Given the description of an element on the screen output the (x, y) to click on. 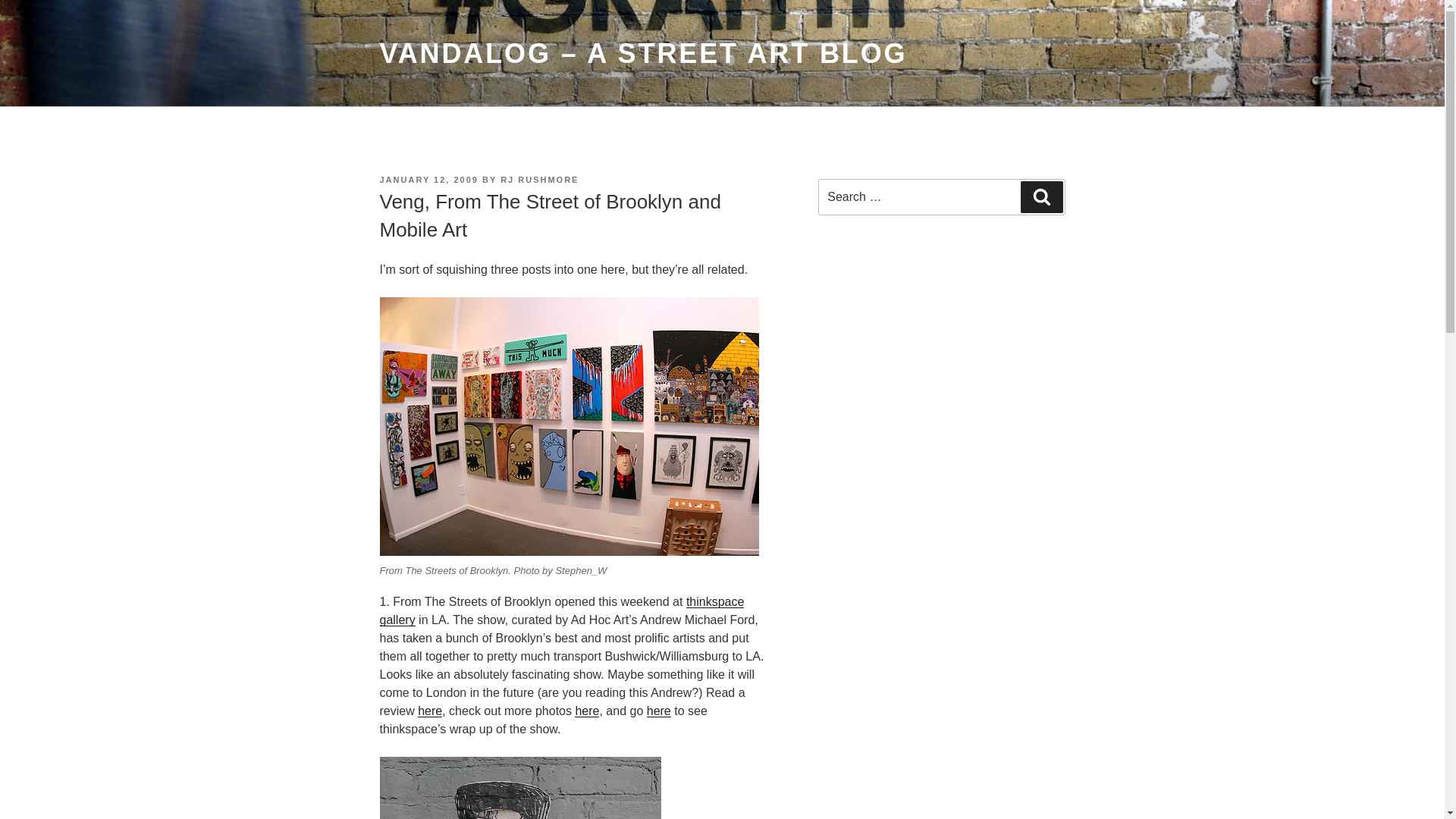
JANUARY 12, 2009 (427, 179)
Search (1041, 196)
thinkspace gallery (561, 610)
From The Streets of Brooklyn (568, 426)
Veng Paste-up (519, 787)
RJ RUSHMORE (539, 179)
here (429, 710)
here (658, 710)
here (586, 710)
